Given the description of an element on the screen output the (x, y) to click on. 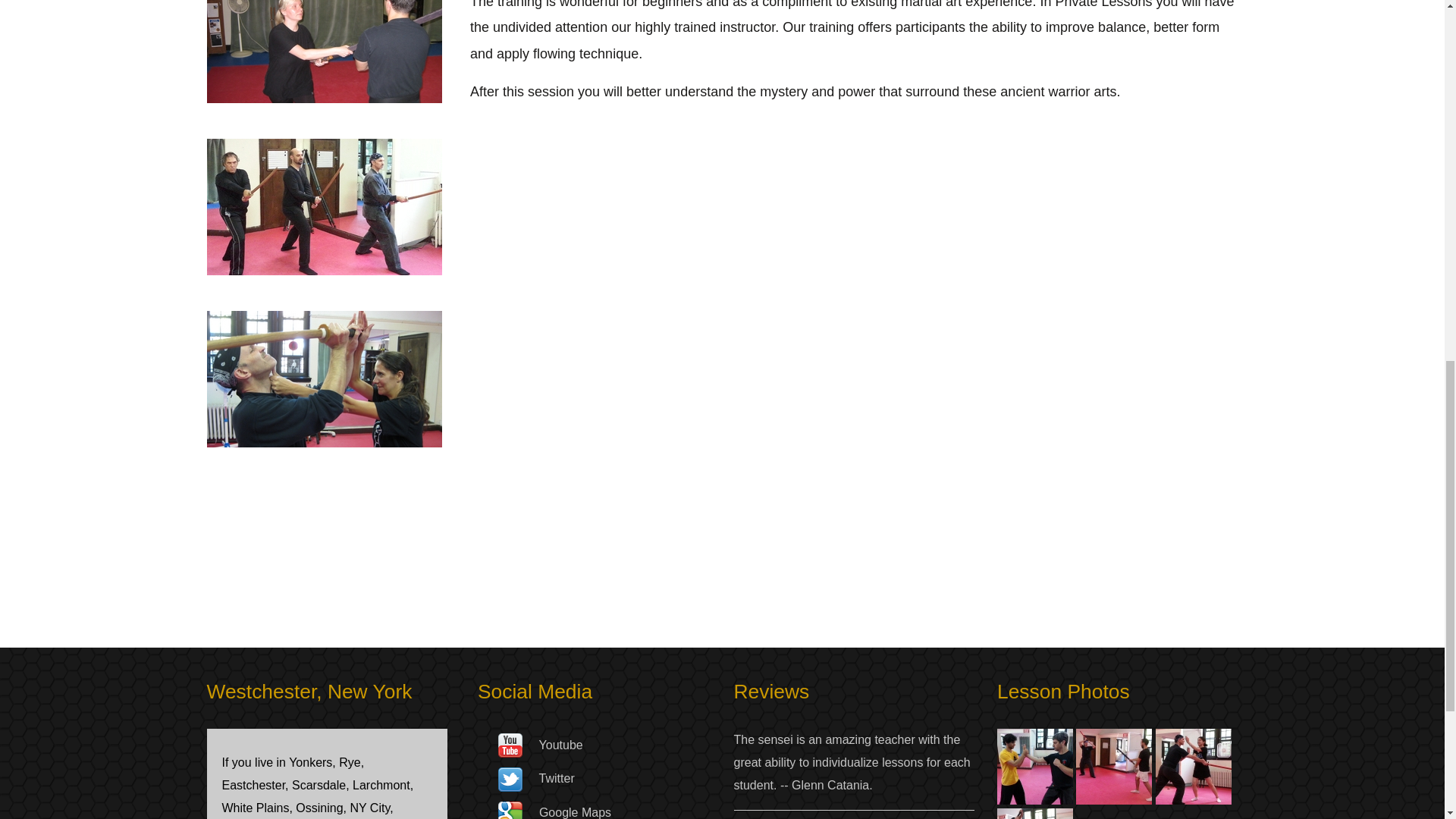
Follow our Tweets (509, 778)
Find us on this map (509, 812)
Watch our video (509, 744)
